Given the description of an element on the screen output the (x, y) to click on. 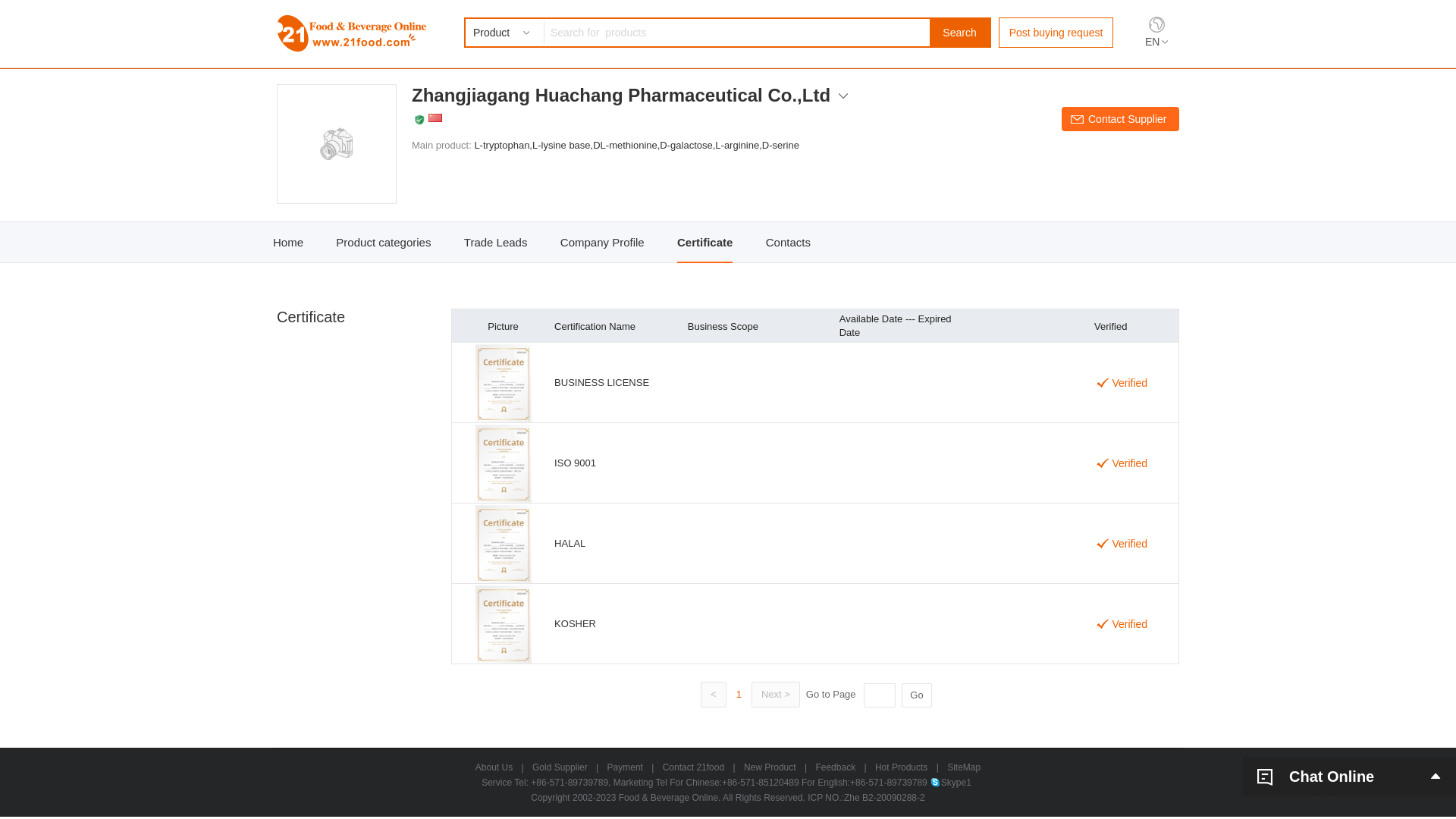
Home Element type: text (288, 242)
Skype1 Element type: text (950, 782)
Feedback Element type: text (835, 767)
SiteMap Element type: text (963, 767)
China Element type: hover (435, 117)
About Us Element type: text (493, 767)
Go Element type: text (916, 695)
Contact Supplier Element type: text (1120, 118)
Hot Products Element type: text (901, 767)
New Product Element type: text (769, 767)
Contacts Element type: text (787, 242)
Contact 21food Element type: text (693, 767)
Certificate Element type: text (704, 242)
Search Element type: text (959, 32)
EN Element type: text (1156, 41)
Product categories Element type: text (382, 242)
Trade Leads Element type: text (495, 242)
Company Profile Element type: text (602, 242)
Gold Supplier Element type: text (559, 767)
Post buying request Element type: text (1055, 32)
Payment Element type: text (625, 767)
